Given the description of an element on the screen output the (x, y) to click on. 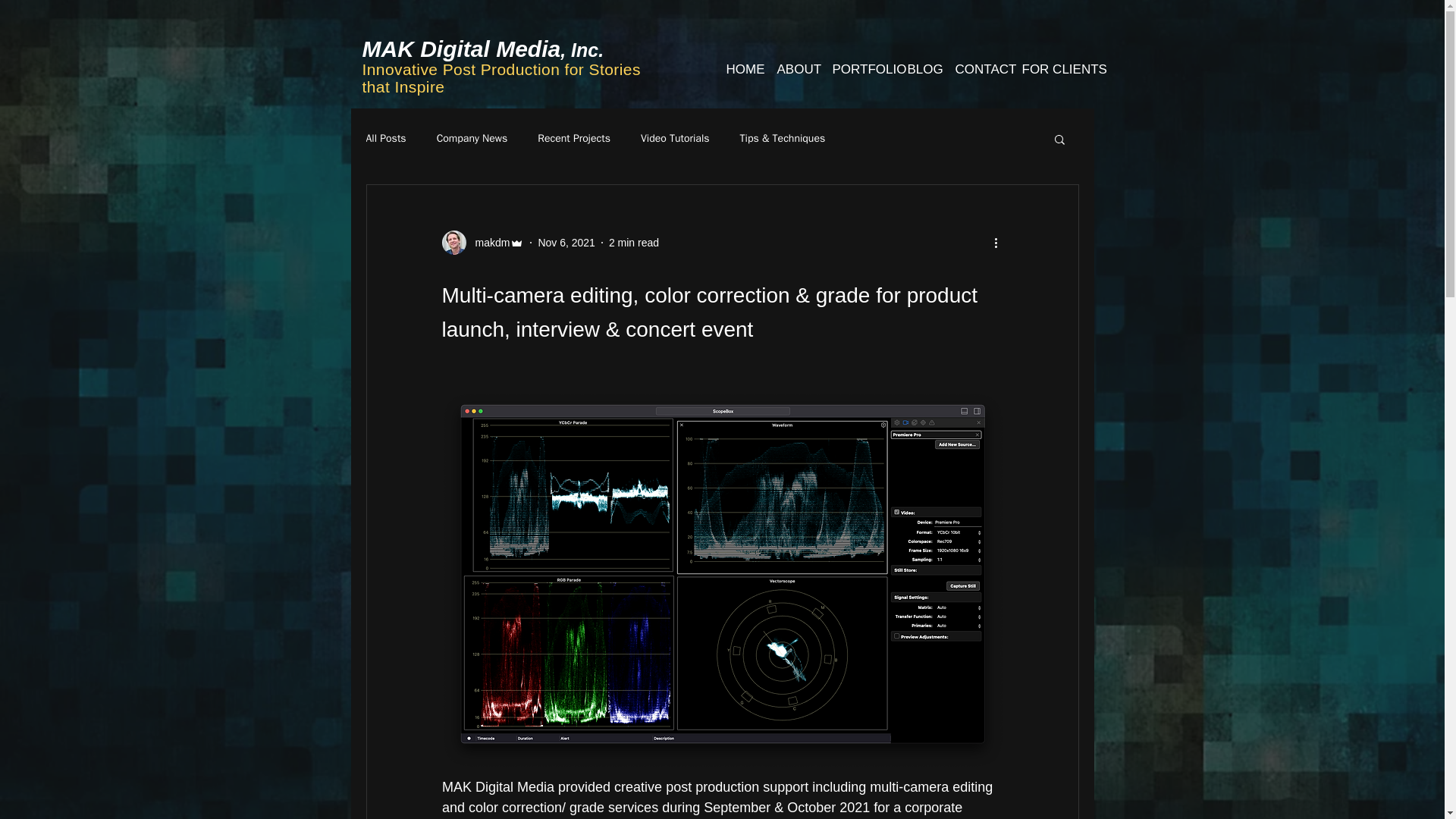
Recent Projects (573, 138)
MAK Digital Media (461, 48)
BLOG (919, 69)
Video Tutorials (675, 138)
HOME (739, 69)
makdm (482, 242)
All Posts (385, 138)
CONTACT (976, 69)
Company News (472, 138)
2 min read (633, 242)
